Given the description of an element on the screen output the (x, y) to click on. 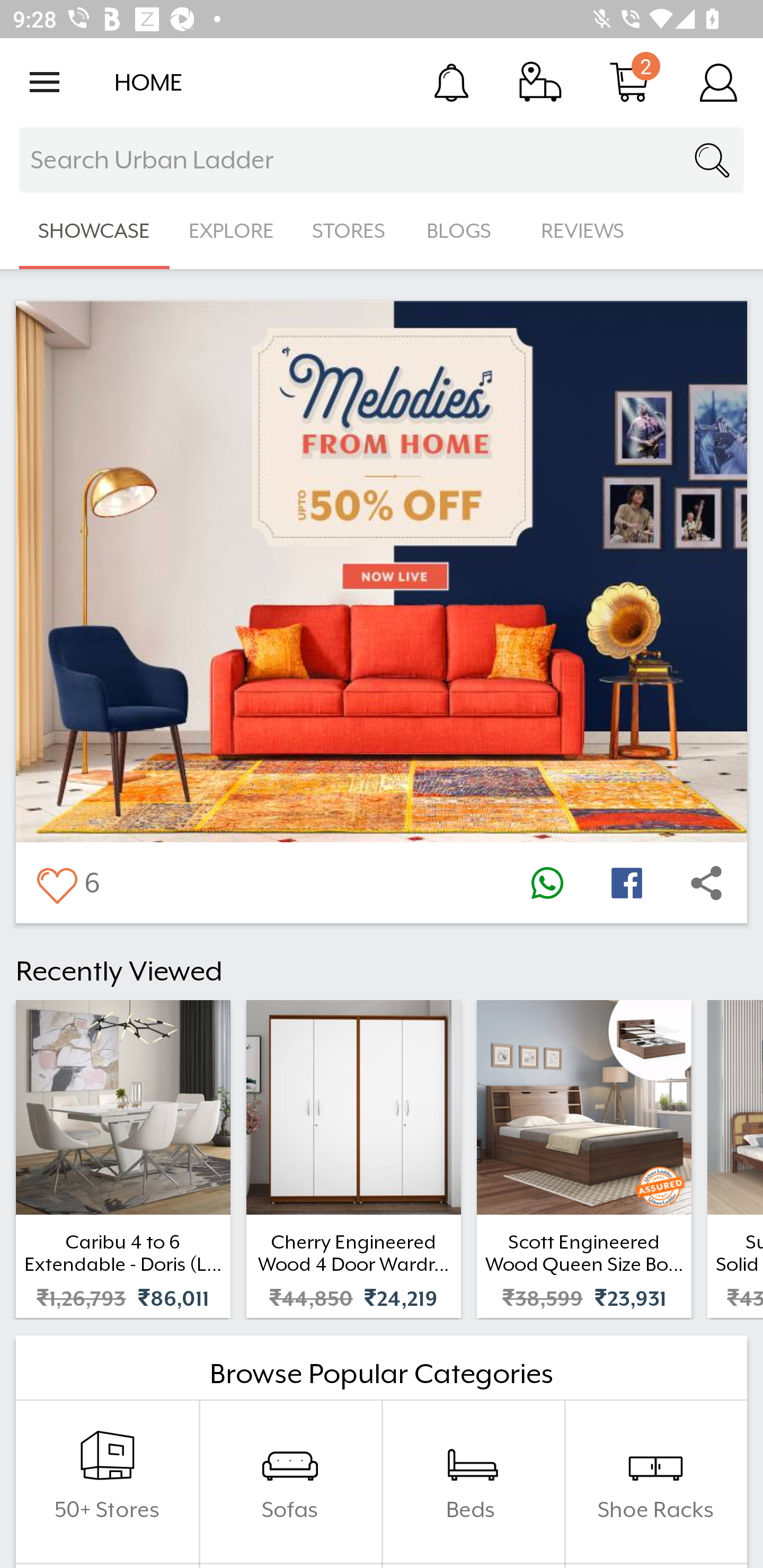
Open navigation drawer (44, 82)
Notification (450, 81)
Track Order (540, 81)
Cart (629, 81)
Account Details (718, 81)
Search Urban Ladder  (381, 159)
SHOWCASE (94, 230)
EXPLORE (230, 230)
STORES (349, 230)
BLOGS (464, 230)
REVIEWS (582, 230)
 (55, 882)
 (547, 882)
 (626, 882)
 (706, 882)
50+ Stores (106, 1481)
Sofas (289, 1481)
Beds  (473, 1481)
Shoe Racks (655, 1481)
